Given the description of an element on the screen output the (x, y) to click on. 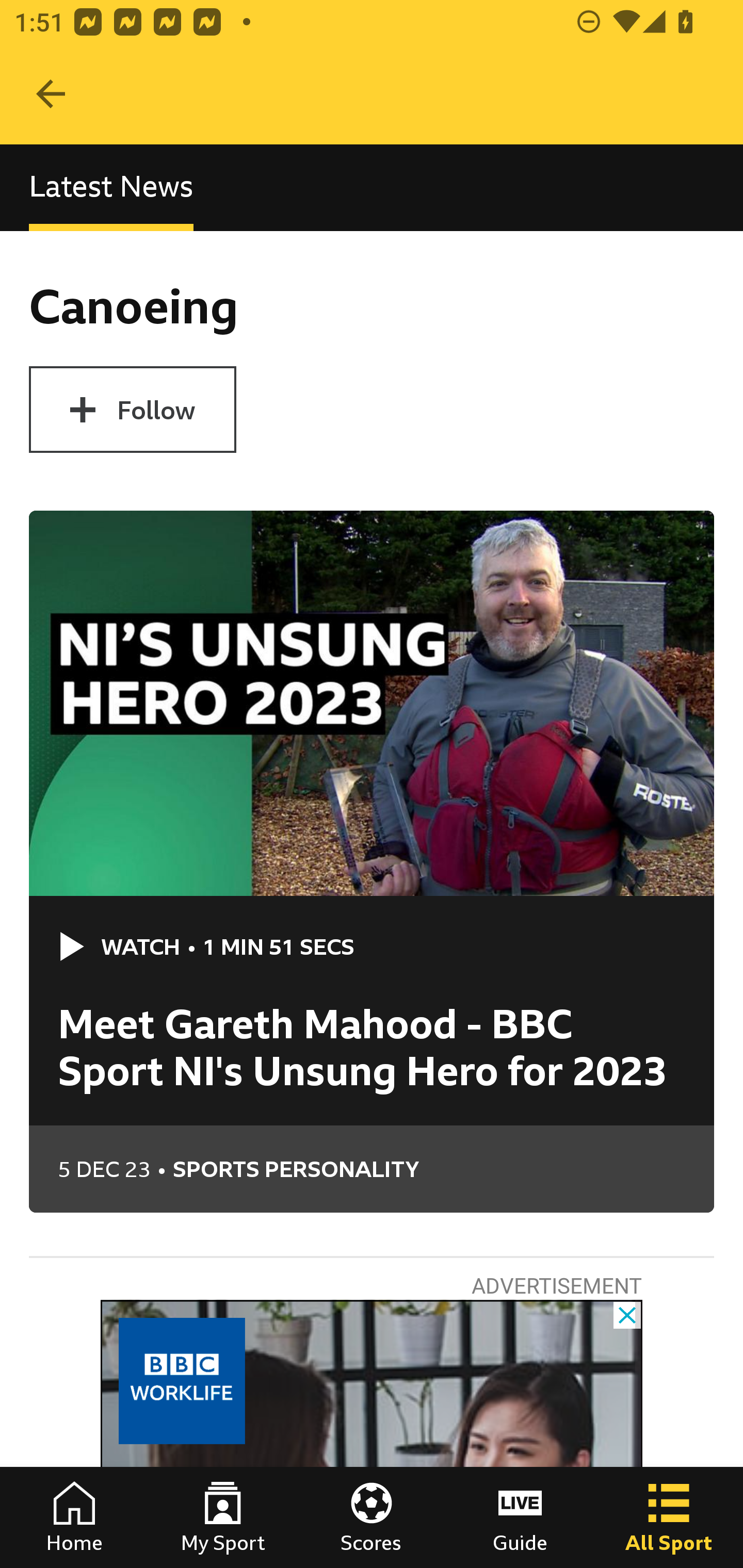
Navigate up (50, 93)
Latest News, selected Latest News (111, 187)
Follow Canoeing Follow (132, 409)
Home (74, 1517)
My Sport (222, 1517)
Scores (371, 1517)
Guide (519, 1517)
